Given the description of an element on the screen output the (x, y) to click on. 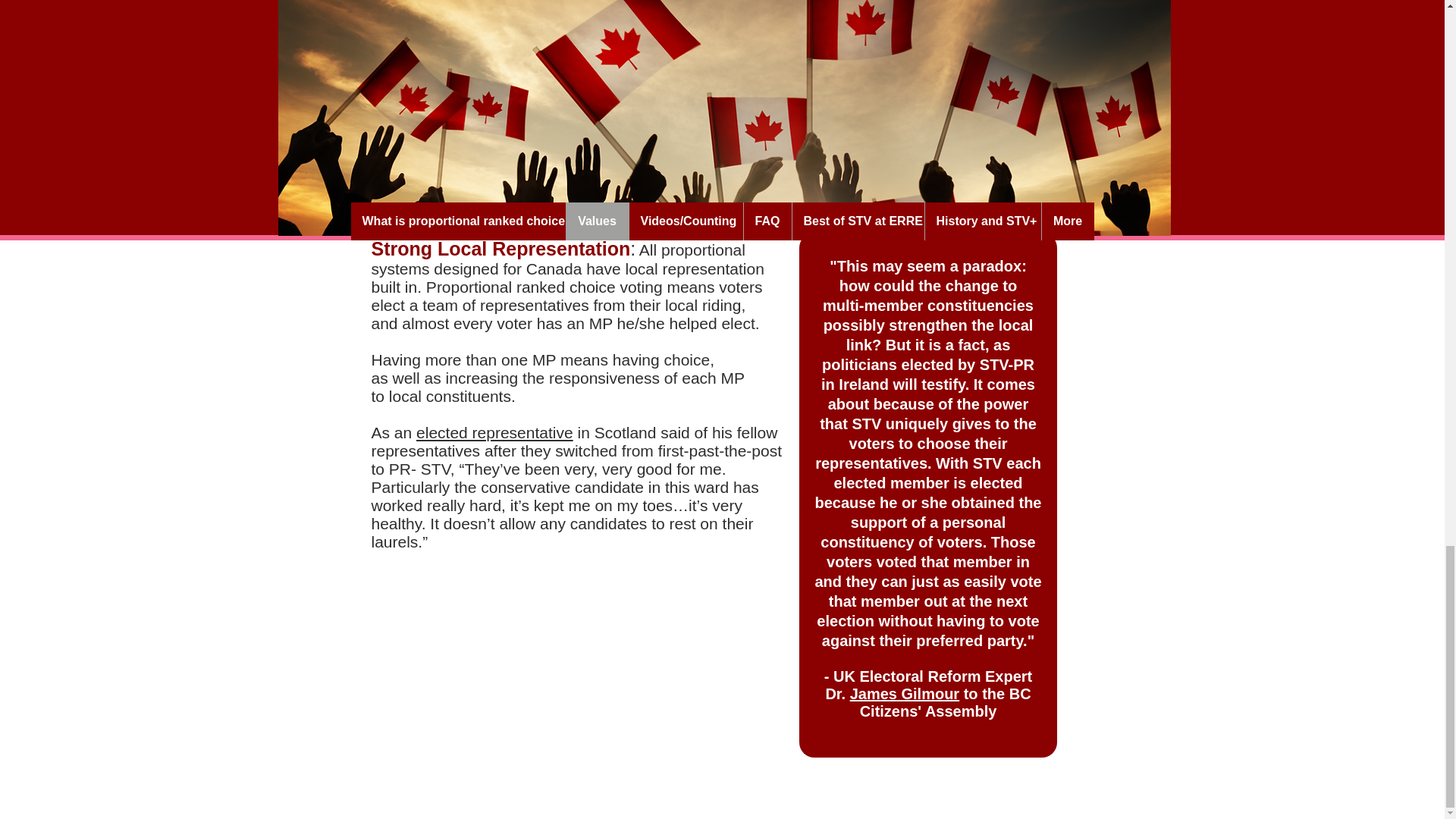
Why BC-STV? (950, 21)
PR systems elect more women and minorities, naturally (704, 201)
elected representative (494, 432)
James Gilmour (904, 693)
